Given the description of an element on the screen output the (x, y) to click on. 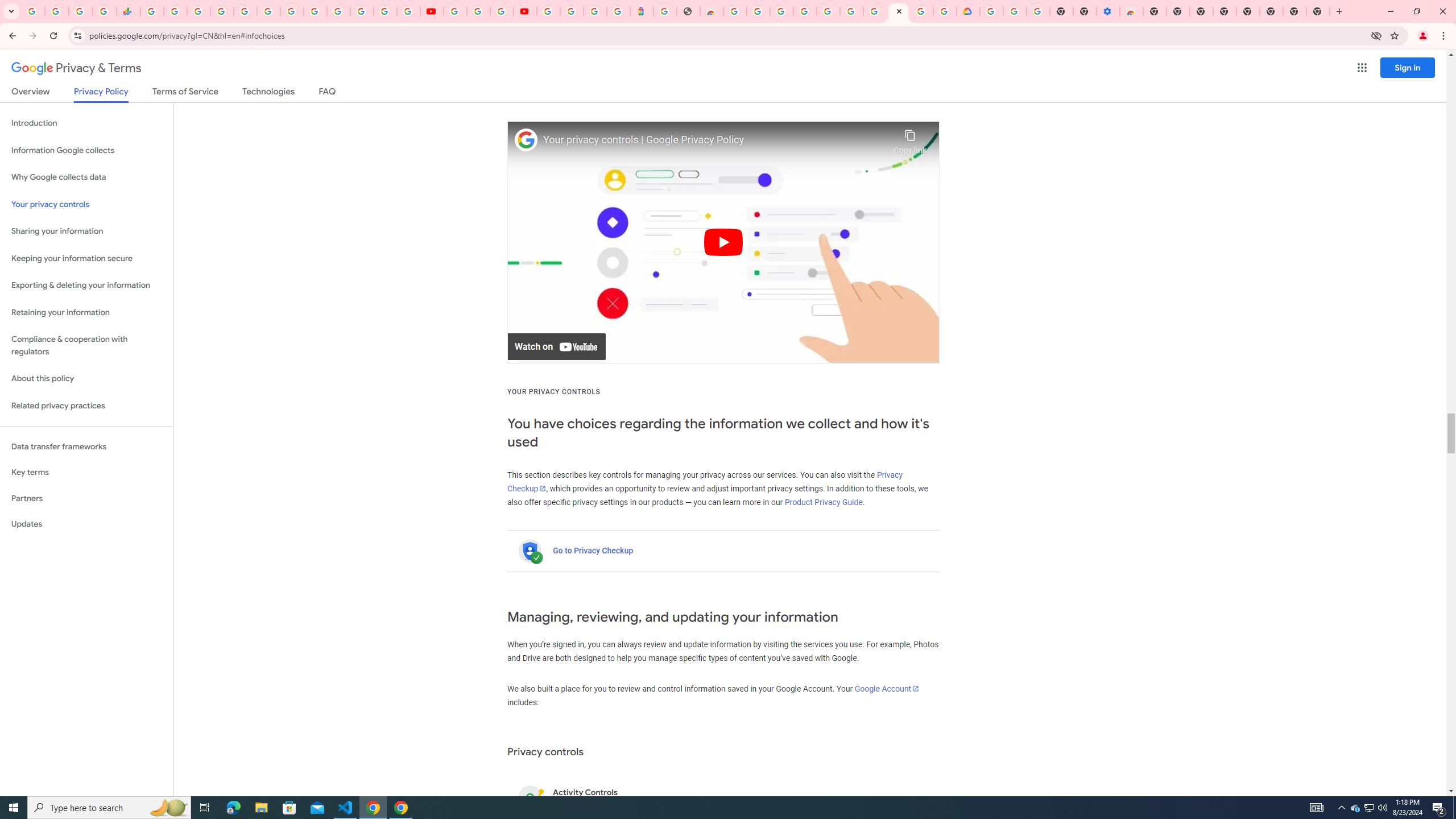
Related privacy practices (86, 405)
Watch on YouTube (556, 346)
Chrome Web Store - Household (711, 11)
Sign in - Google Accounts (992, 11)
Create your Google Account (757, 11)
